Given the description of an element on the screen output the (x, y) to click on. 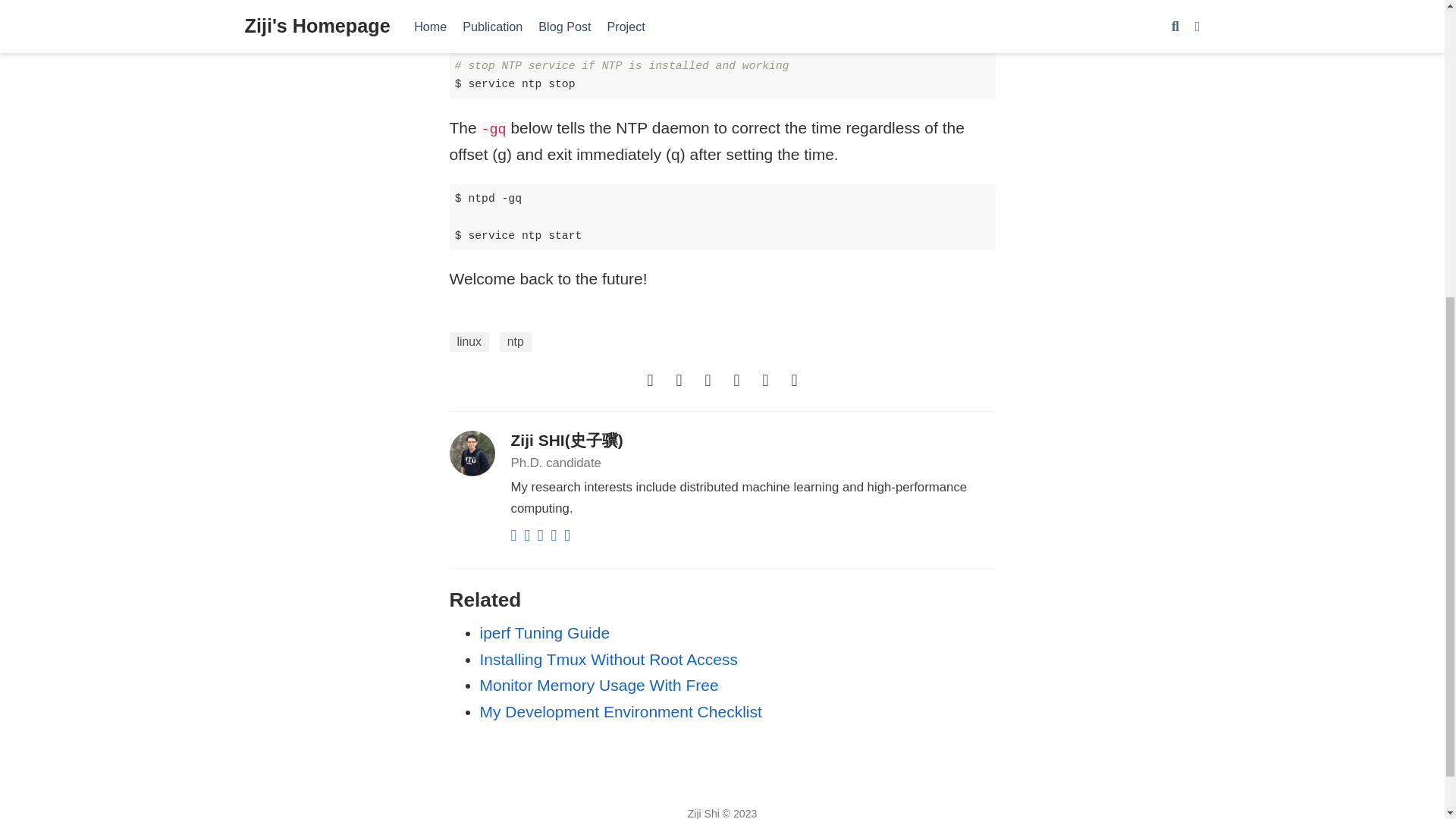
Monitor Memory Usage With Free (598, 684)
Installing Tmux Without Root Access (607, 659)
iperf Tuning Guide (544, 632)
ntp (515, 342)
My Development Environment Checklist (620, 711)
linux (467, 342)
